Given the description of an element on the screen output the (x, y) to click on. 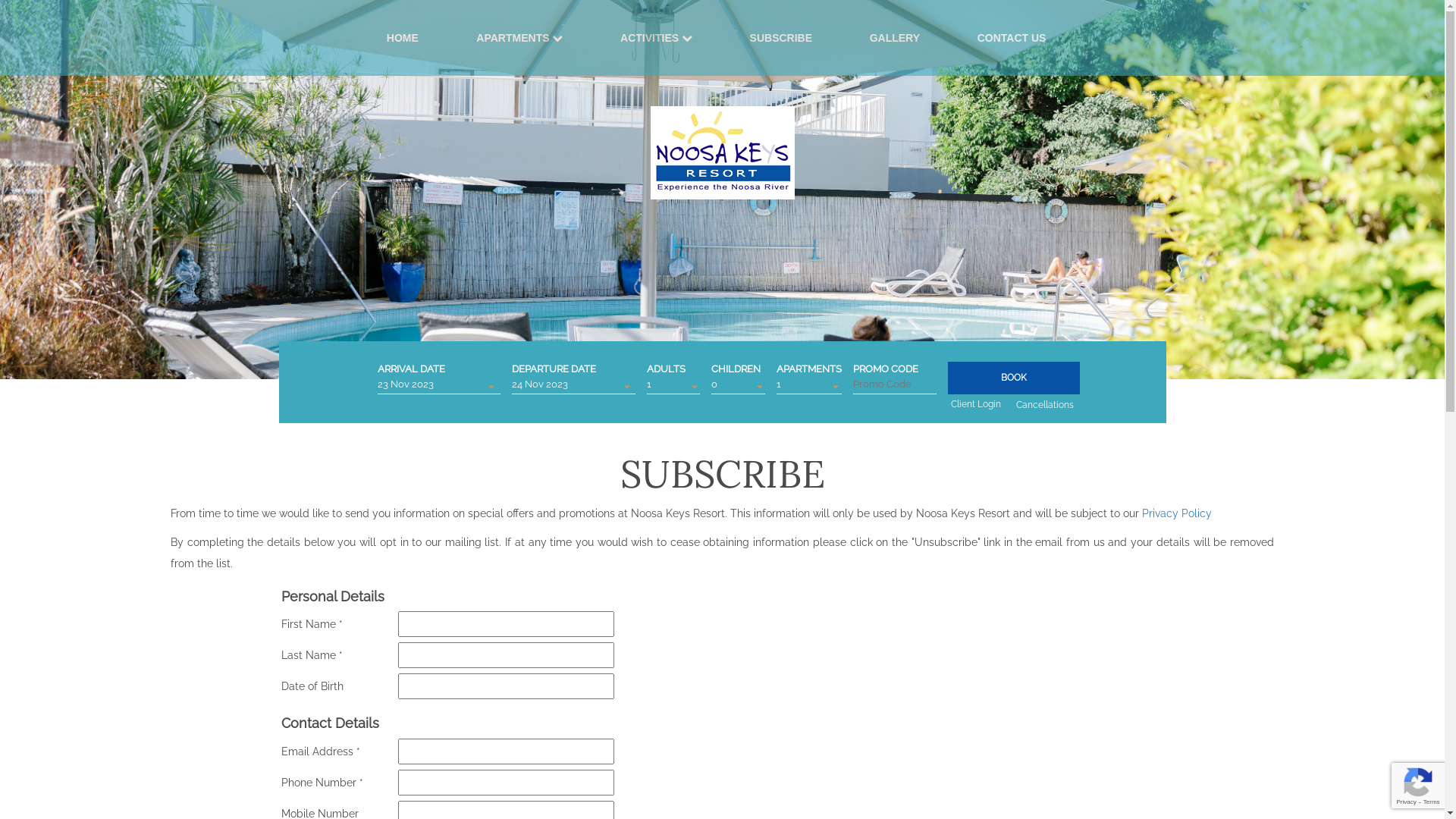
Privacy Policy Element type: text (1176, 513)
APARTMENTS Element type: text (512, 37)
SUBSCRIBE Element type: text (780, 37)
HOME Element type: text (402, 37)
BOOK Element type: text (1013, 377)
CONTACT US Element type: text (1011, 37)
GALLERY Element type: text (894, 37)
Cancellations Element type: text (1044, 404)
ACTIVITIES Element type: text (649, 37)
Client Login Element type: text (975, 403)
